Given the description of an element on the screen output the (x, y) to click on. 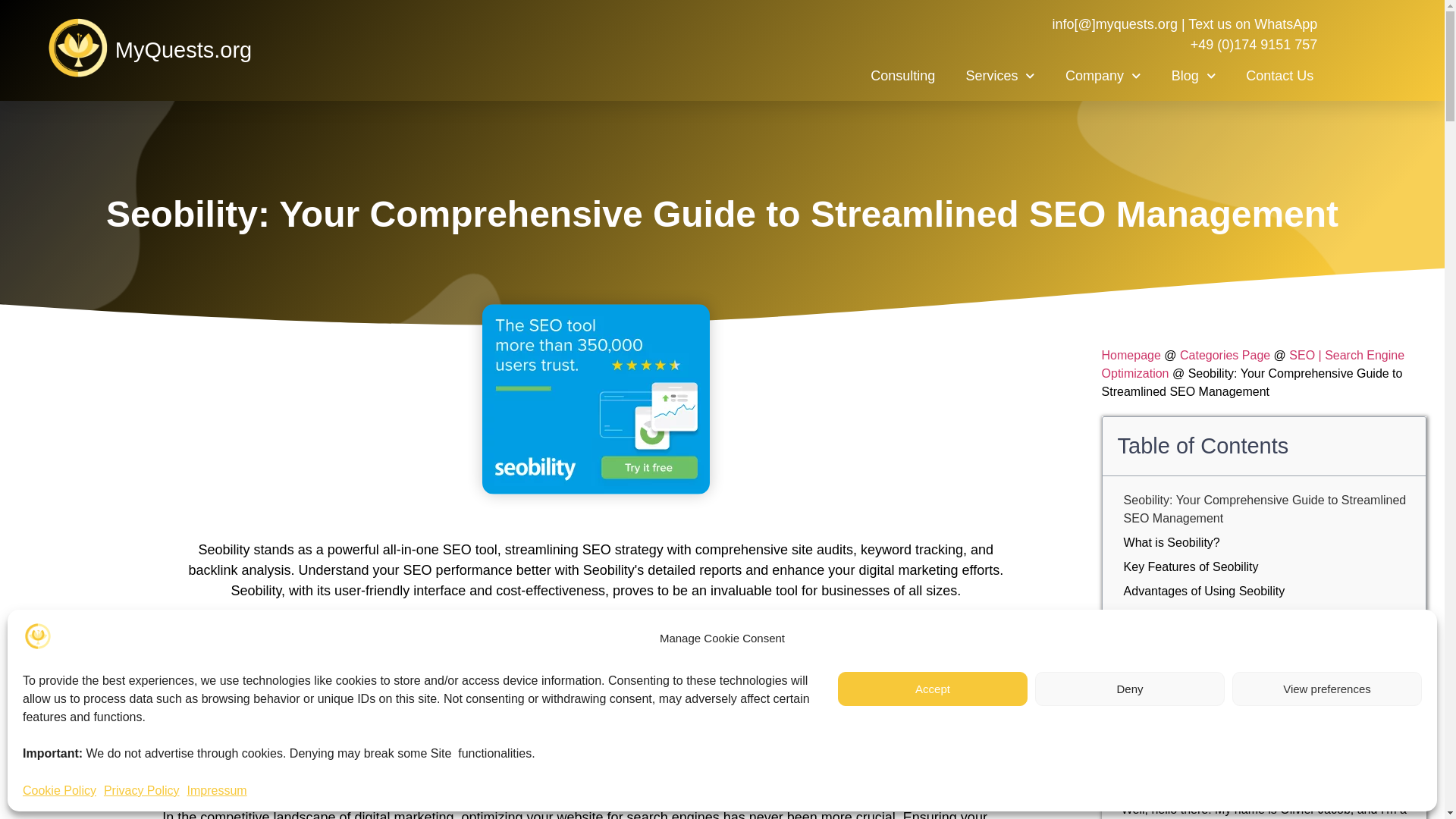
View preferences (1326, 688)
Cookie Policy (59, 791)
Blog (1193, 75)
Deny (1129, 688)
Company (1102, 75)
Services (999, 75)
Accept (932, 688)
Consulting (902, 75)
Privacy Policy (141, 791)
MyQuests.org (183, 49)
Impressum (217, 791)
